Given the description of an element on the screen output the (x, y) to click on. 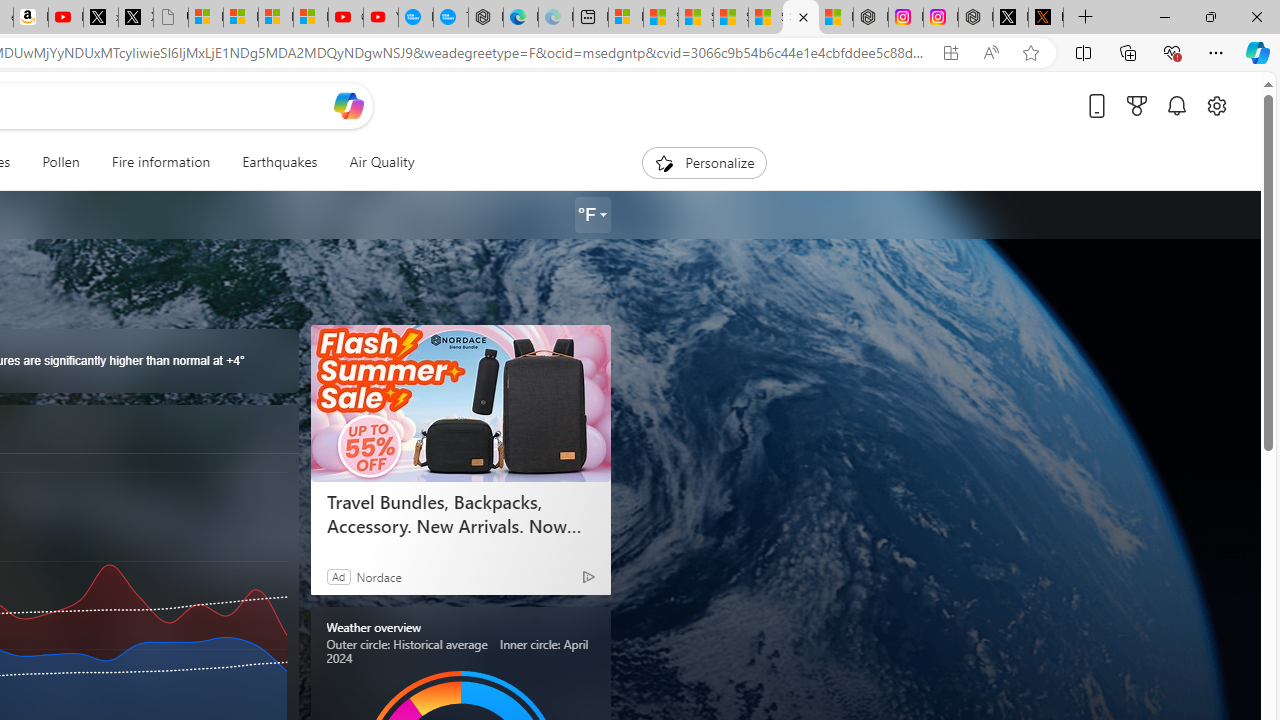
Earthquakes (279, 162)
Open settings (1216, 105)
Day 1: Arriving in Yemen (surreal to be here) - YouTube (65, 17)
Fire information (161, 162)
Nordace - Nordace has arrived Hong Kong (485, 17)
Fire information (160, 162)
Weather settings (591, 215)
YouTube Kids - An App Created for Kids to Explore Content (380, 17)
